Given the description of an element on the screen output the (x, y) to click on. 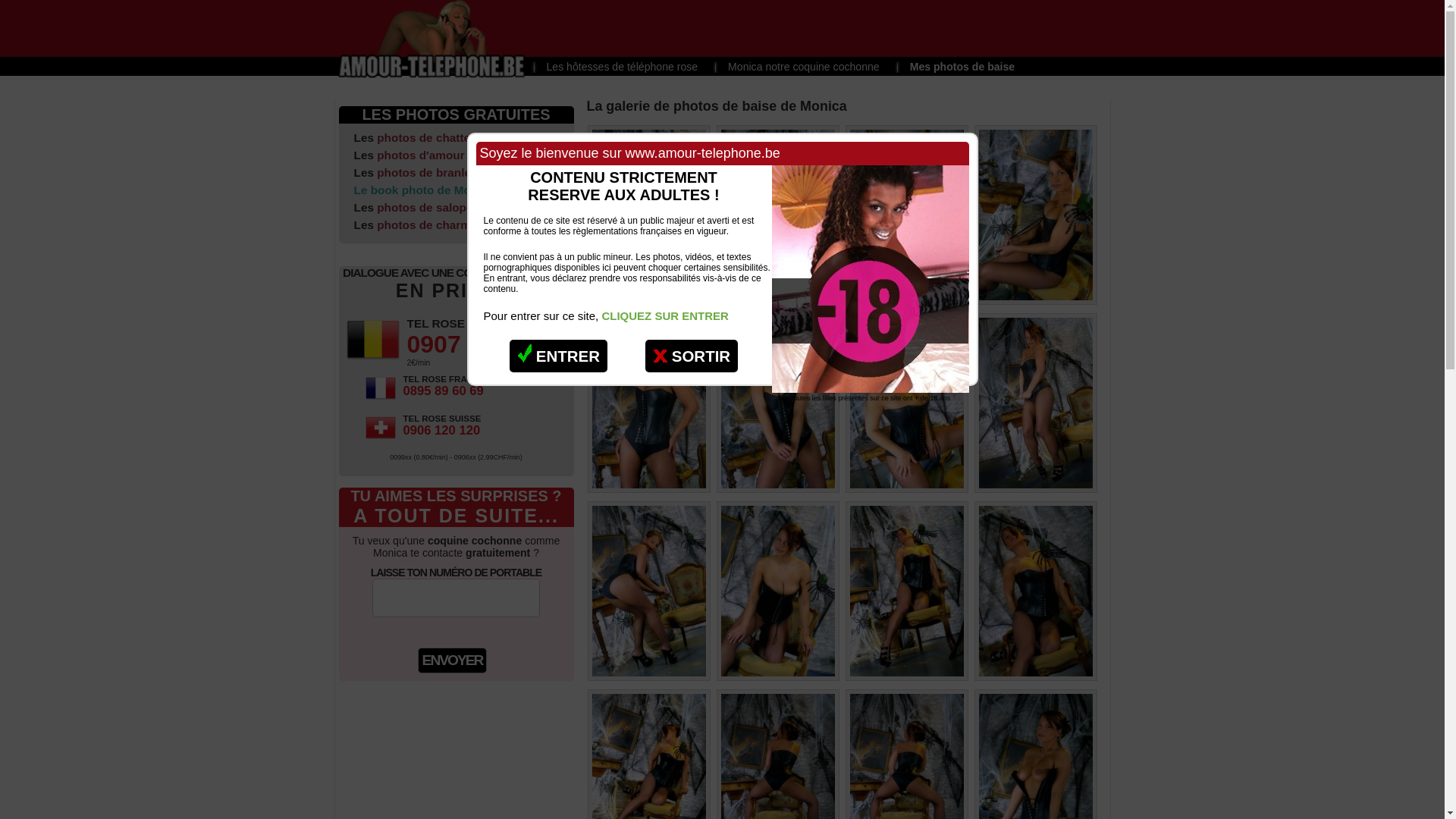
photos d'amour Element type: text (420, 154)
photos de branlette Element type: text (430, 172)
photos de salope Element type: text (424, 206)
0895 89 60 69 Element type: text (443, 390)
SORTIR Element type: text (691, 355)
0907 36 036 Element type: text (473, 343)
photos de chatte Element type: text (423, 137)
Monica notre coquine cochonne Element type: text (795, 66)
0906 120 120 Element type: text (441, 430)
photos de charme Element type: text (426, 224)
ENTRER Element type: text (558, 355)
